Given the description of an element on the screen output the (x, y) to click on. 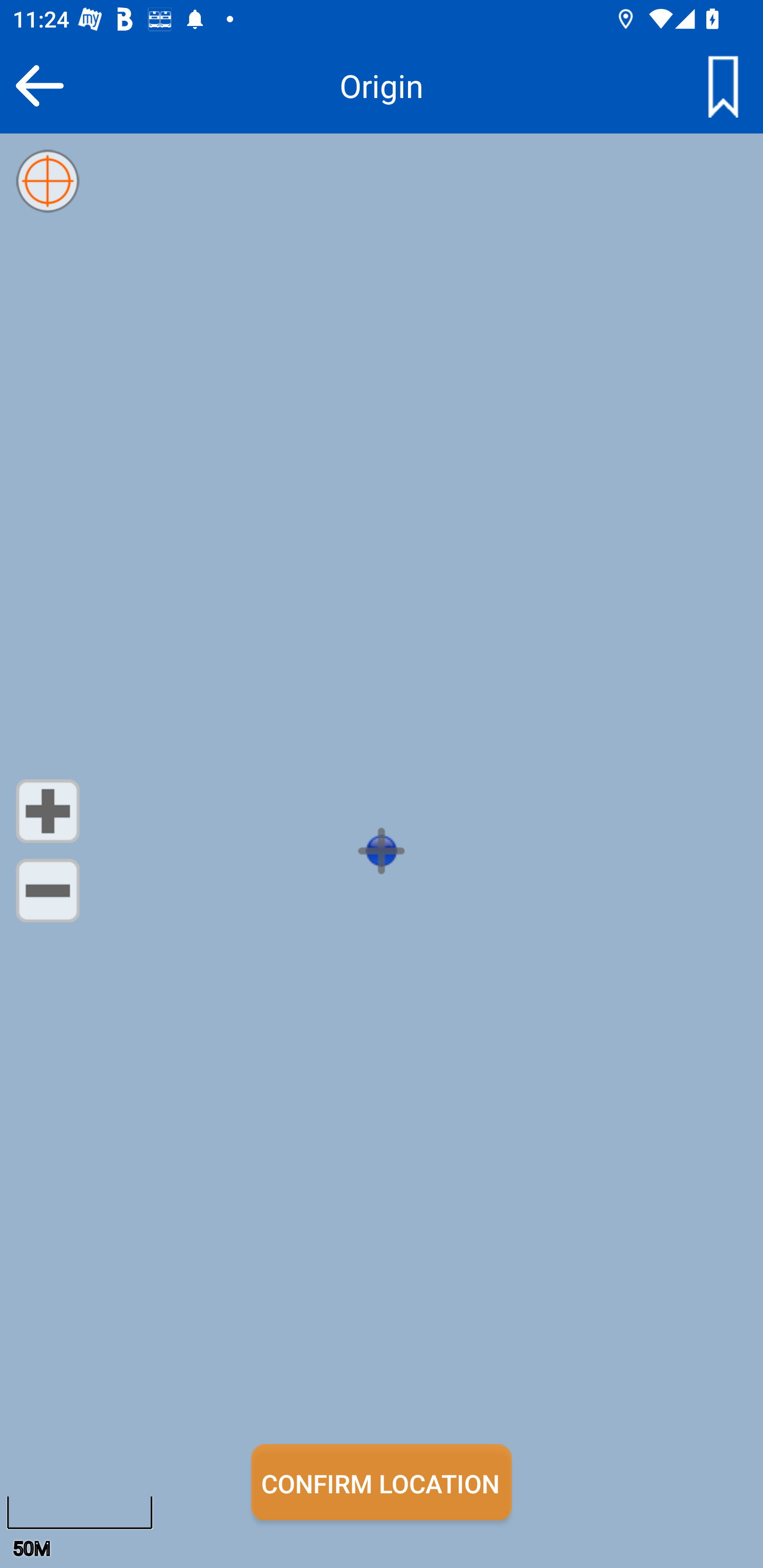
Add bookmark (723, 85)
Back (39, 85)
CONFIRM LOCATION (381, 1482)
